Given the description of an element on the screen output the (x, y) to click on. 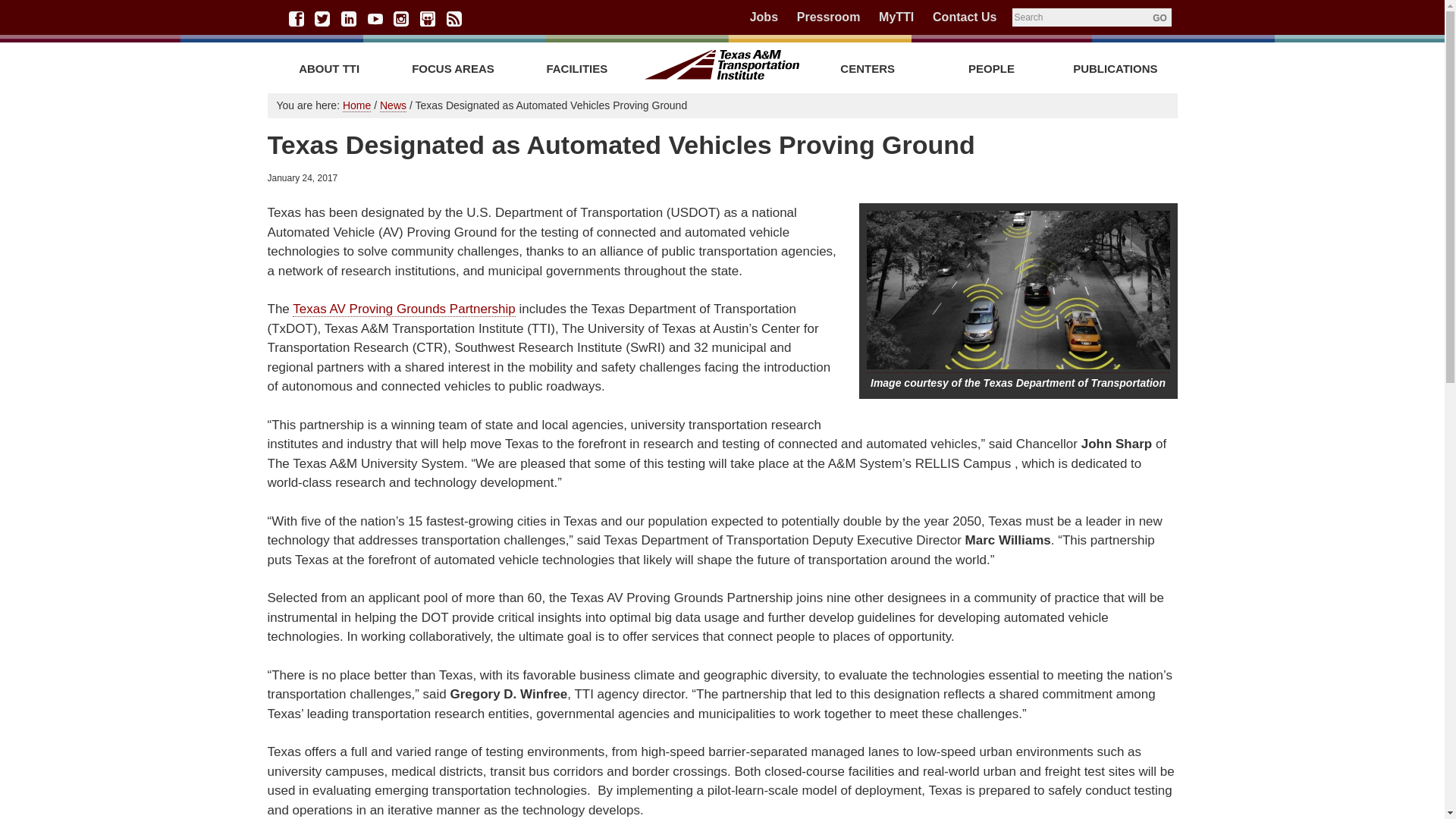
Contact Us (964, 16)
TTI SlideShare (427, 18)
Pressroom (828, 16)
RSS (453, 18)
FOCUS AREAS (453, 68)
TTI YouTube (375, 18)
TTI Instagram (401, 18)
Twitter (322, 18)
GO (1159, 17)
Instagram (401, 18)
TTI LinkedIn (348, 18)
FACILITIES (577, 68)
Jobs (763, 16)
LinkedIn (348, 18)
